Given the description of an element on the screen output the (x, y) to click on. 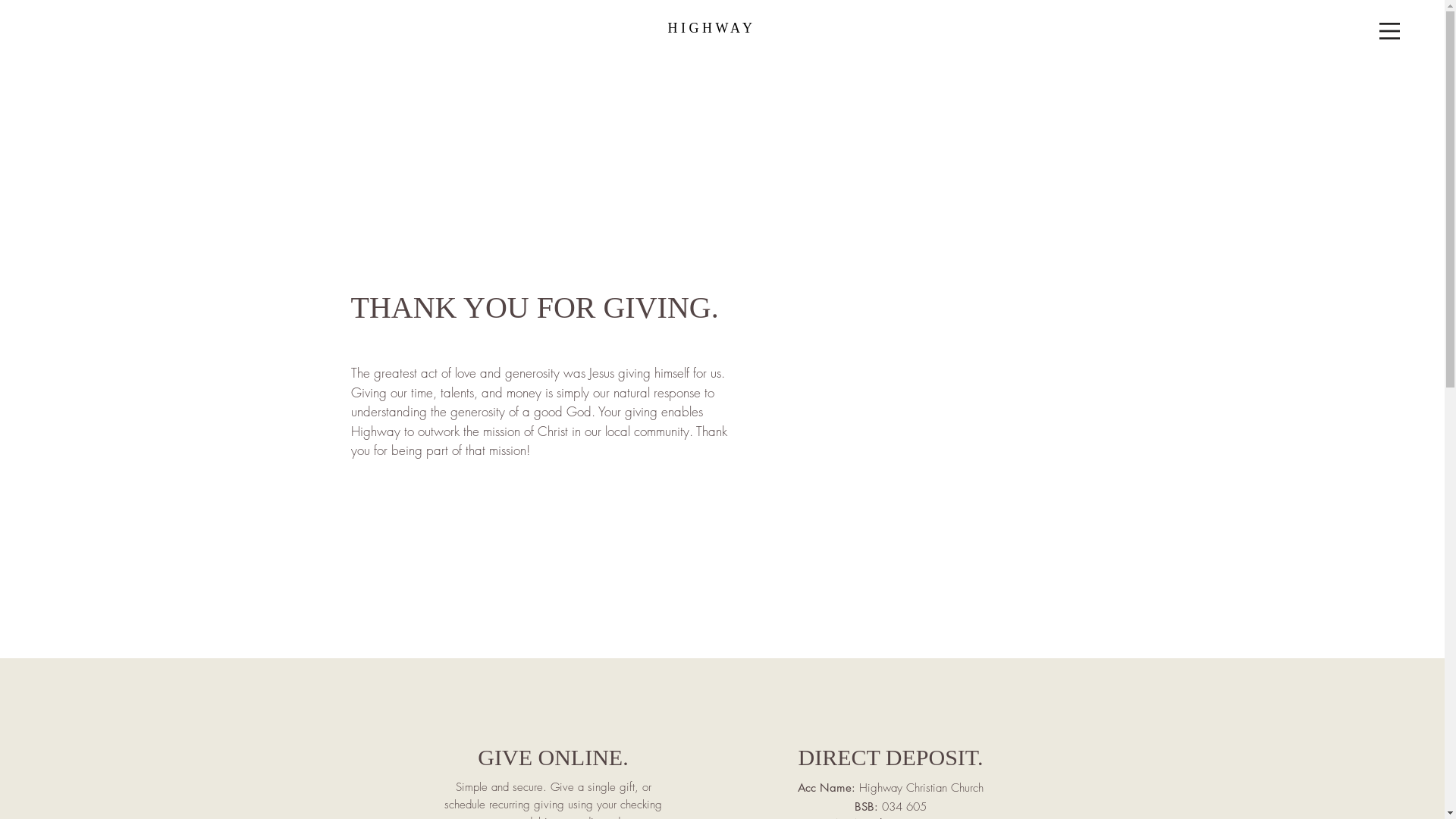
HIGHWAY Element type: text (712, 27)
